Given the description of an element on the screen output the (x, y) to click on. 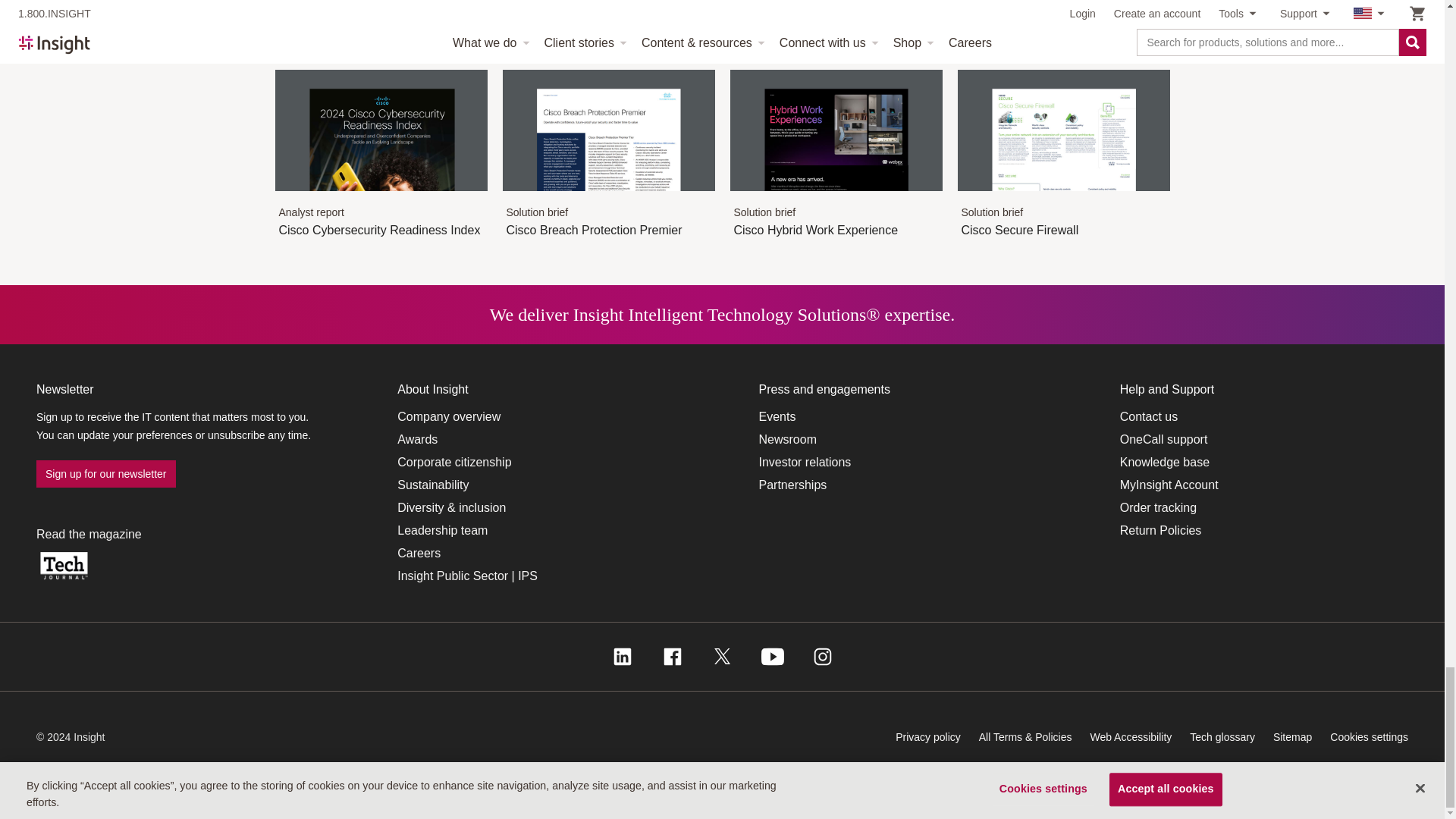
Instagram (822, 656)
Cisco Hybrid Work Experience (835, 189)
Linkedin (622, 656)
Facebook (672, 656)
Cisco Secure Firewall (1062, 189)
Cisco Breach Protection Premier (608, 189)
Cisco Cybersecurity Readiness Index  (380, 189)
Twitter (722, 656)
Youtube (772, 656)
